Given the description of an element on the screen output the (x, y) to click on. 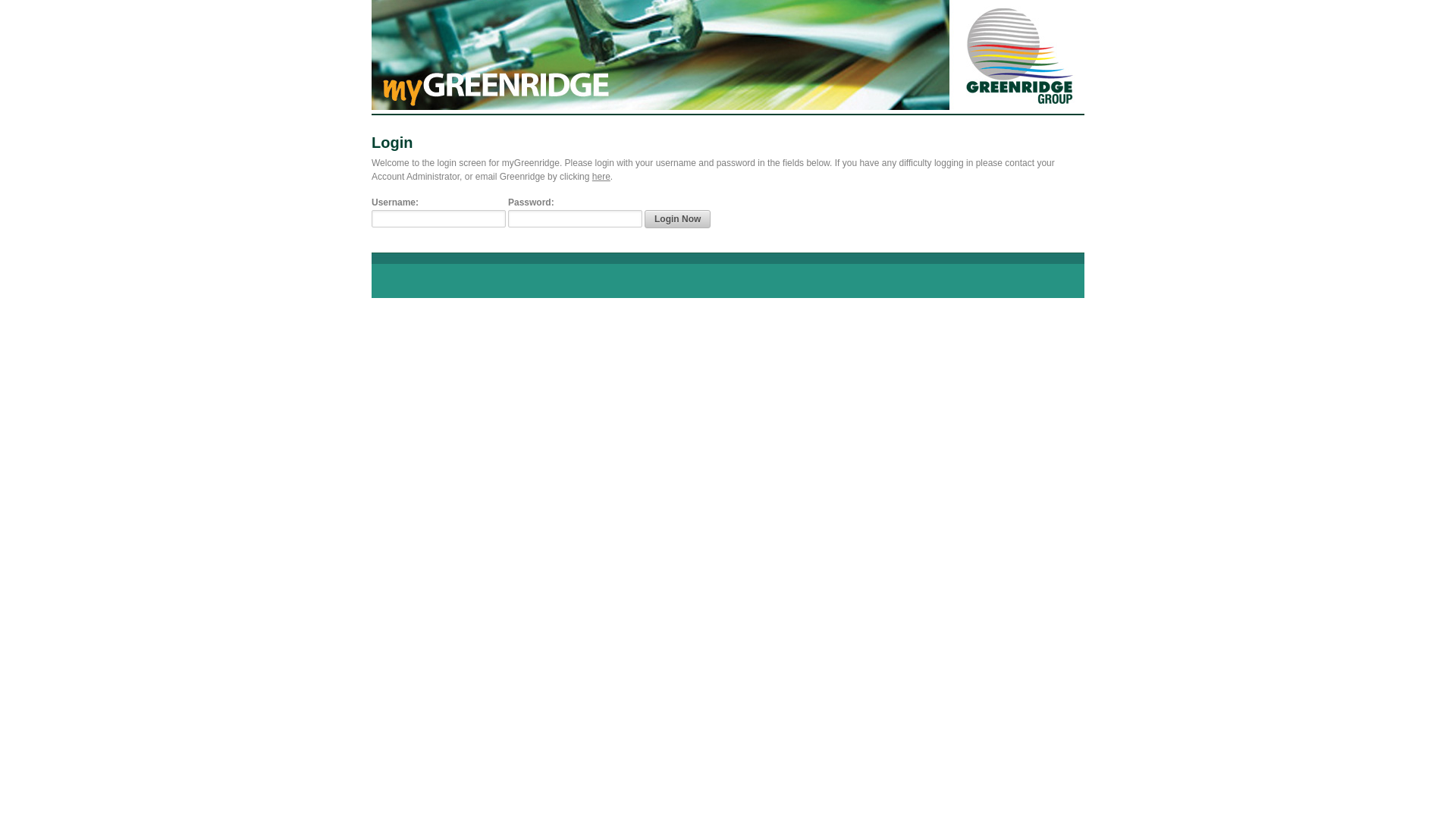
Login Now Element type: text (677, 219)
here Element type: text (601, 176)
